Given the description of an element on the screen output the (x, y) to click on. 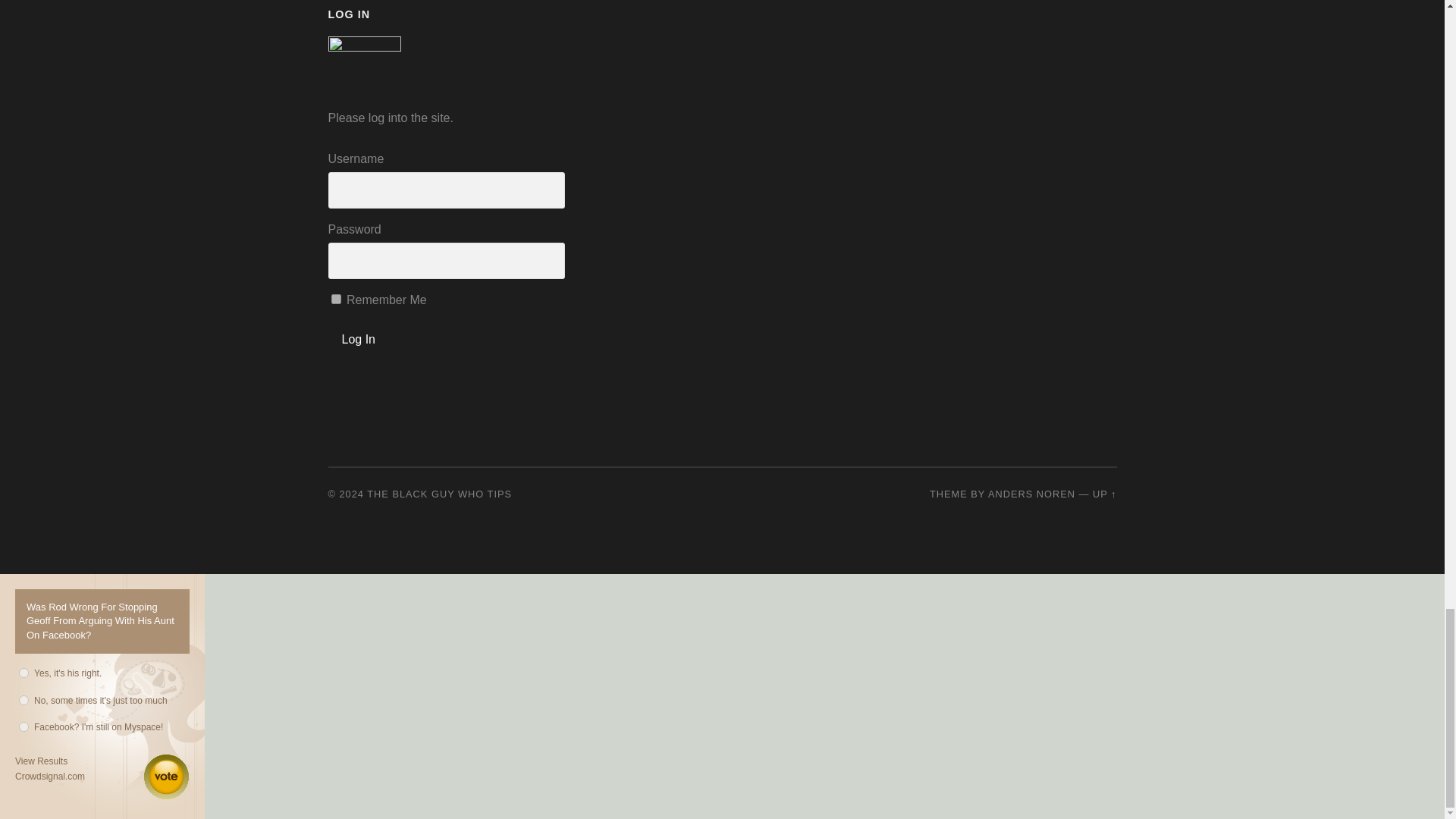
24586994 (23, 673)
forever (335, 298)
24586996 (23, 726)
Log In (357, 339)
To the top (1104, 493)
24586995 (23, 700)
